Given the description of an element on the screen output the (x, y) to click on. 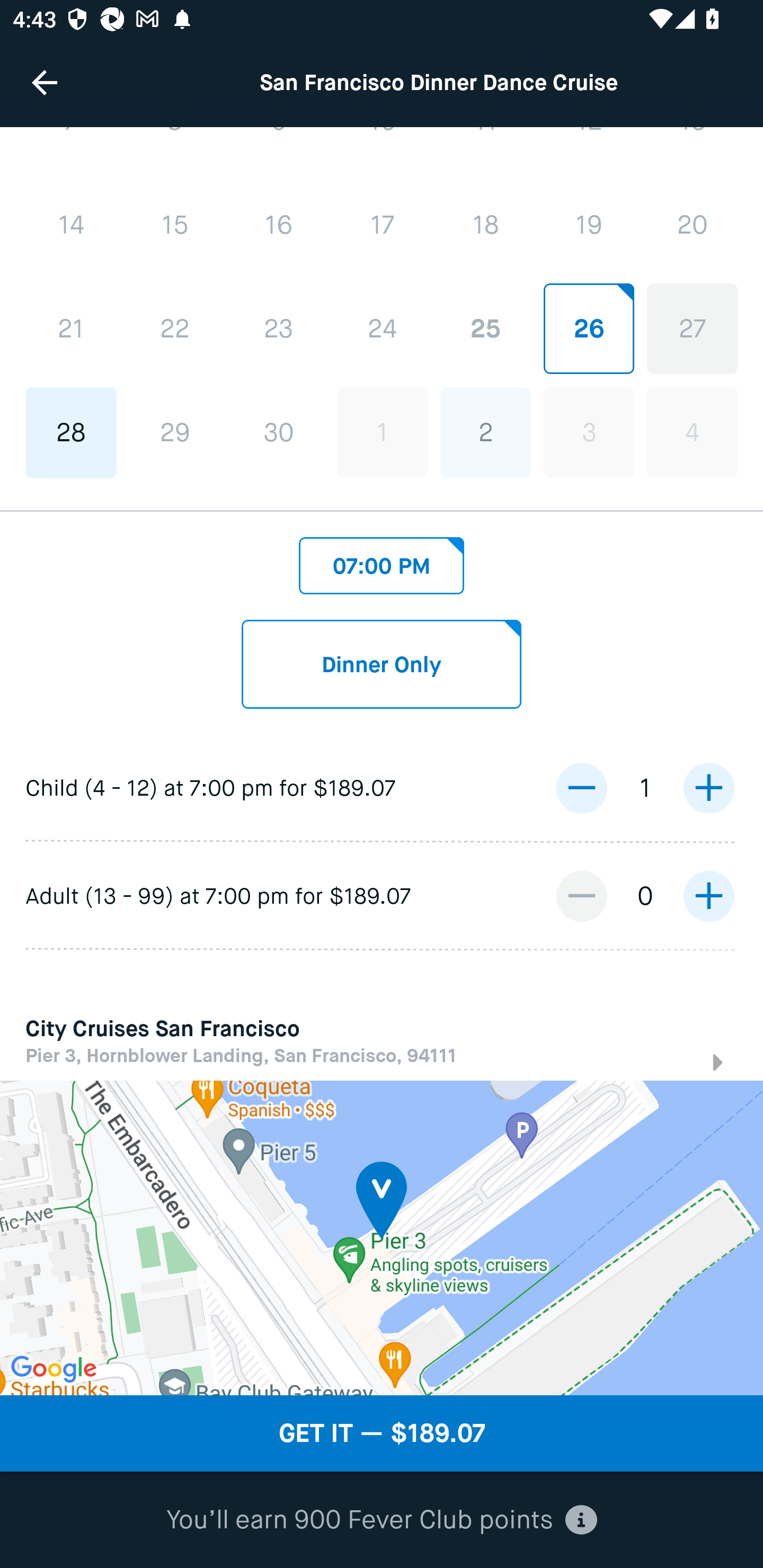
Navigate up (44, 82)
14 (70, 225)
15 (174, 225)
16 (278, 225)
17 (382, 224)
18 (485, 224)
19 (588, 224)
20 (692, 224)
21 (70, 328)
22 (174, 328)
23 (278, 328)
24 (382, 328)
25 (485, 328)
26 (588, 328)
27 (692, 328)
28 (70, 432)
29 (174, 432)
30 (278, 432)
1 (382, 432)
2 (485, 432)
3 (588, 432)
4 (692, 432)
07:00 PM (381, 560)
Dinner Only (381, 663)
decrease (581, 787)
increase (708, 787)
decrease (581, 895)
increase (708, 895)
Google Map Map Marker (381, 1237)
GET IT — $189.07 (381, 1433)
You’ll earn 900 Fever Club points (381, 1519)
